Given the description of an element on the screen output the (x, y) to click on. 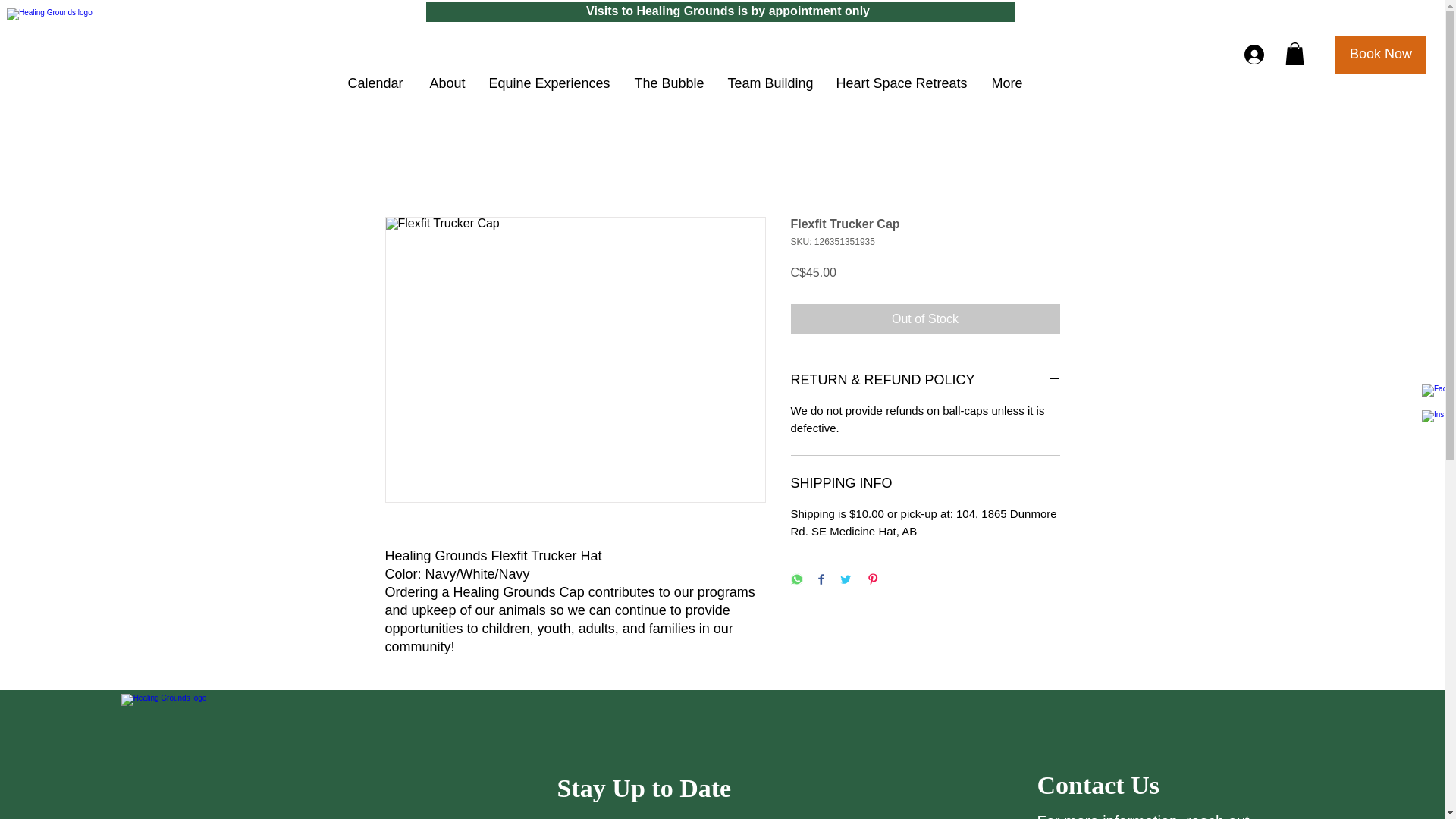
Calendar (374, 83)
Out of Stock (924, 318)
Equine Experiences (548, 83)
Log In (1250, 54)
The Bubble (668, 83)
SHIPPING INFO (924, 483)
Heart Space Retreats (900, 83)
About (444, 83)
Book Now (1380, 54)
Team Building (770, 83)
